Given the description of an element on the screen output the (x, y) to click on. 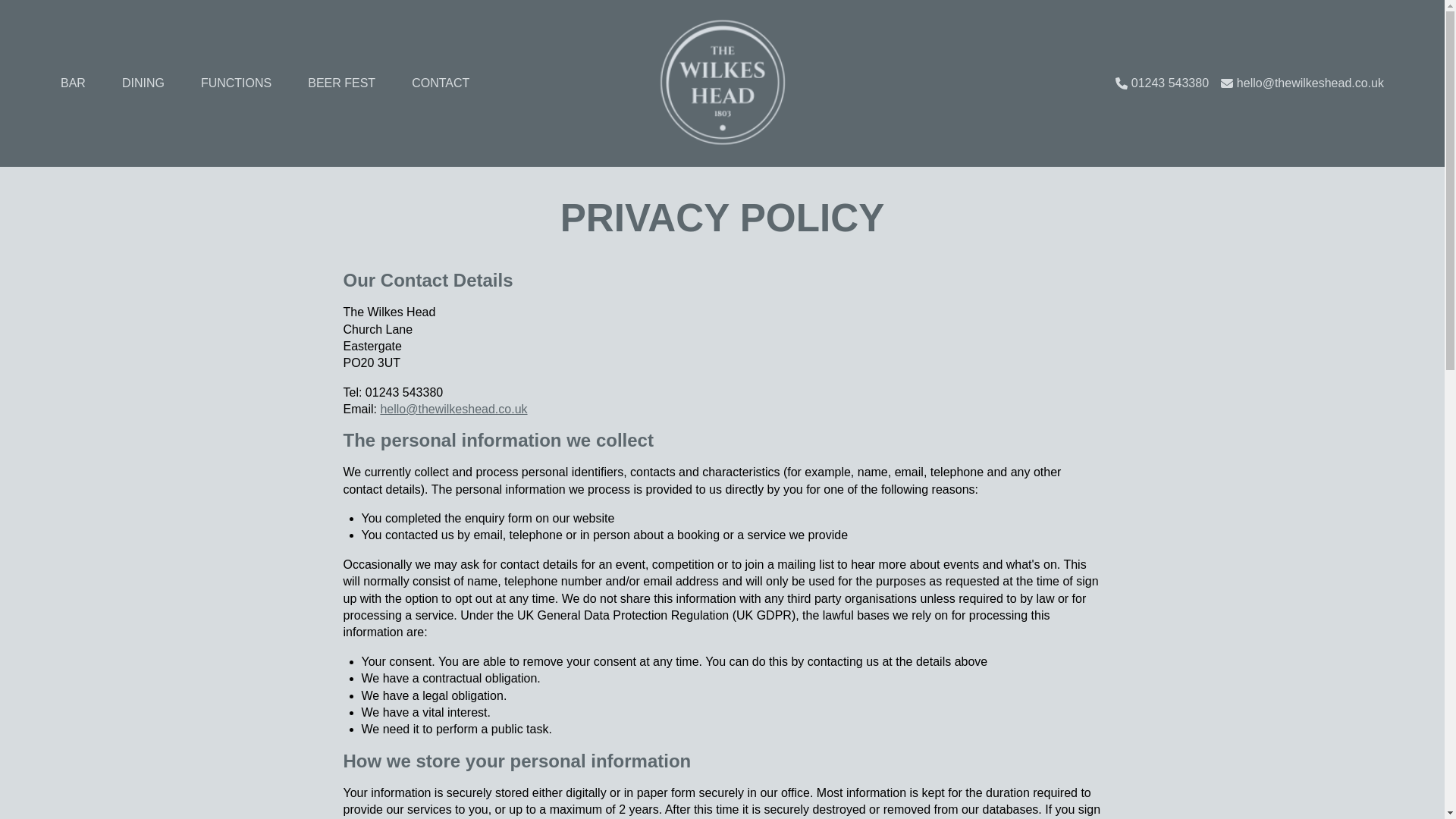
CONTACT (440, 83)
DINING (143, 83)
BAR (73, 83)
01243 543380 (1169, 83)
BEER FEST (341, 83)
FUNCTIONS (235, 83)
